Given the description of an element on the screen output the (x, y) to click on. 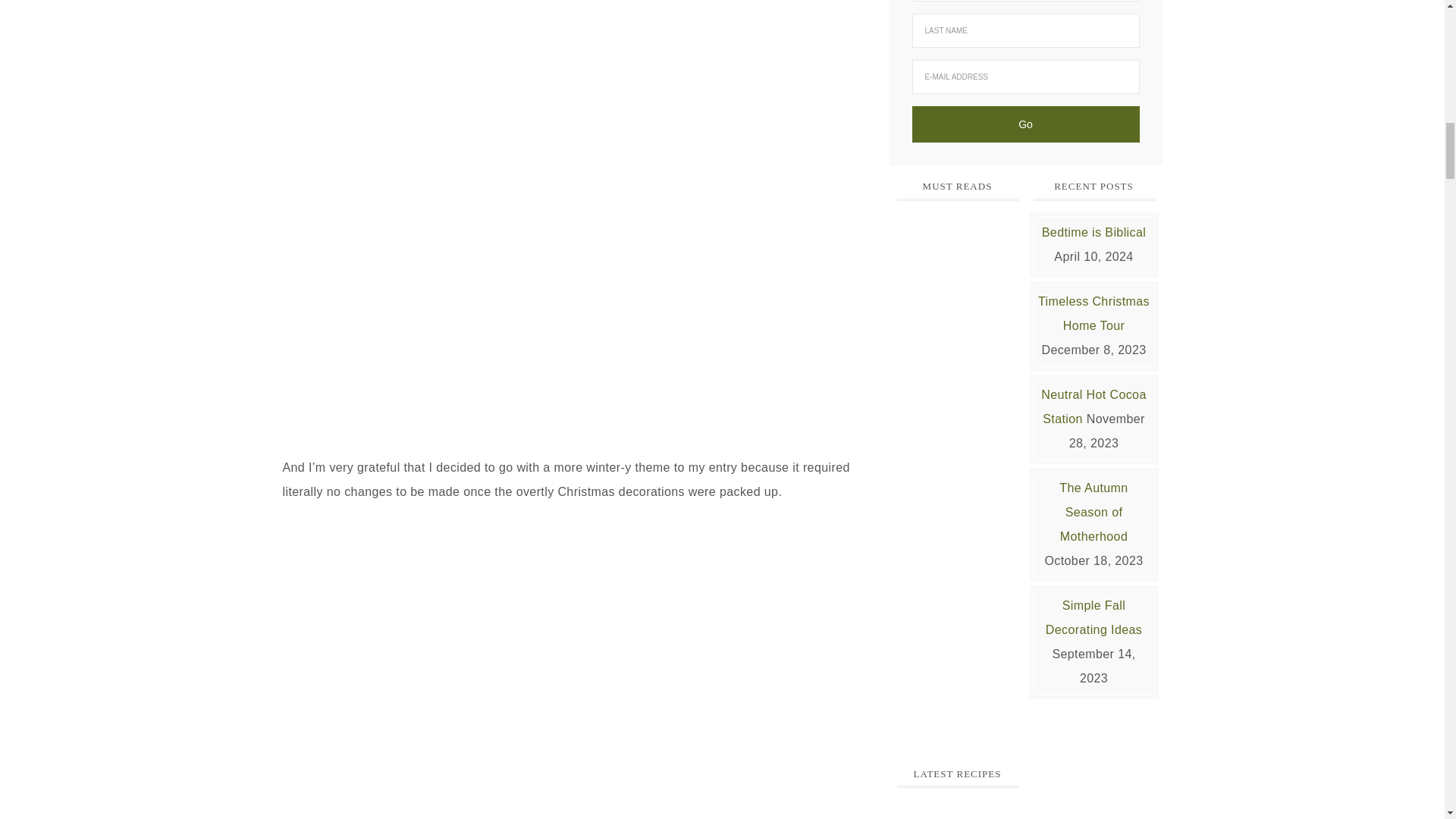
Go (1024, 124)
Open Now (956, 473)
Strawberry Muffins with Lemon Glaze (956, 811)
